Given the description of an element on the screen output the (x, y) to click on. 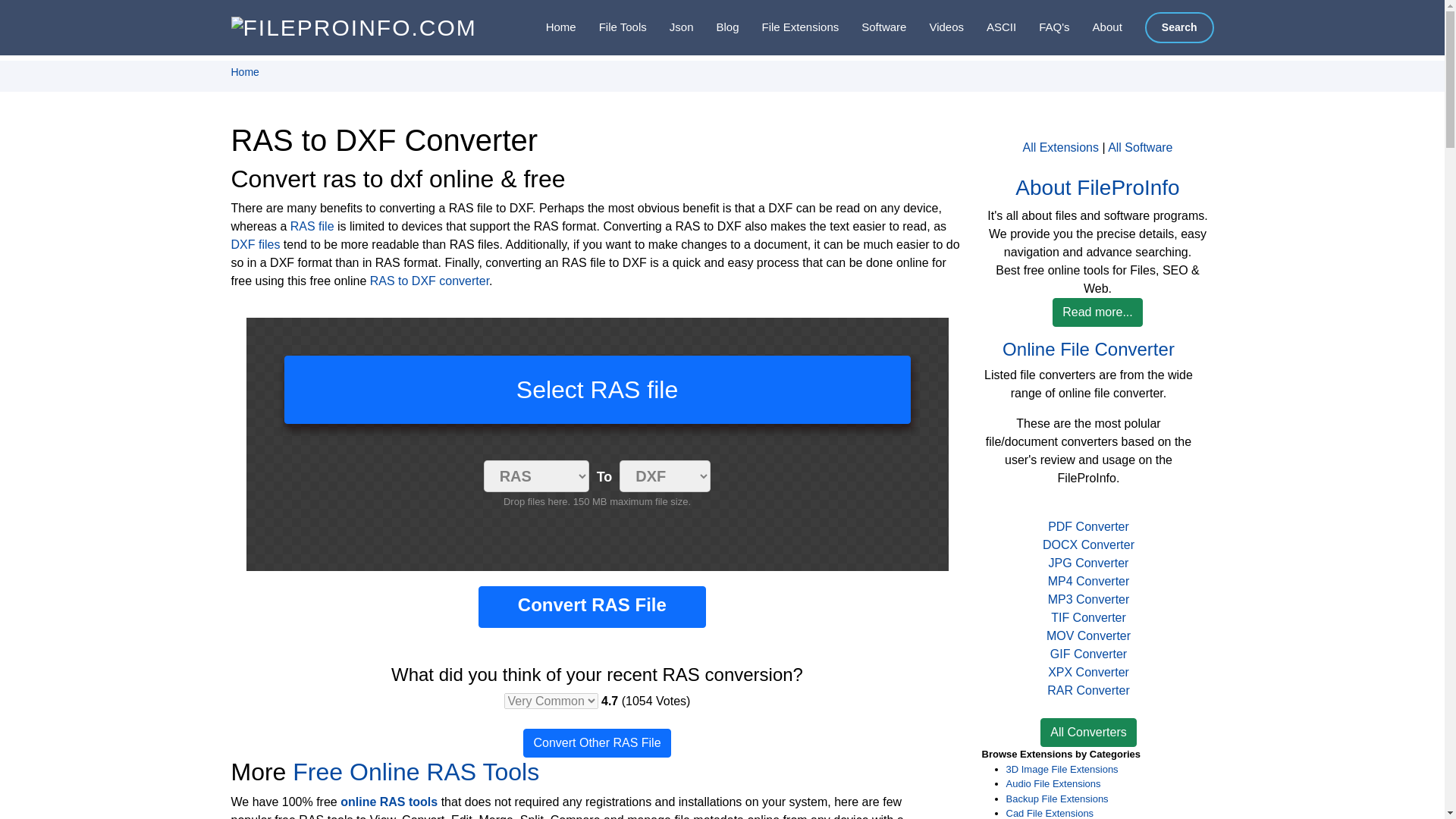
Home (549, 27)
FAQ's (1042, 27)
FileProInfo tech blog (715, 27)
ASCII table (989, 27)
Home (549, 27)
Convert RAS File (592, 607)
About (1096, 27)
Videos (934, 27)
Blog (715, 27)
About (1096, 27)
File Tools (611, 27)
Secure online document tools (611, 27)
Json (670, 27)
free online ras tools (415, 771)
Blog (715, 27)
